Given the description of an element on the screen output the (x, y) to click on. 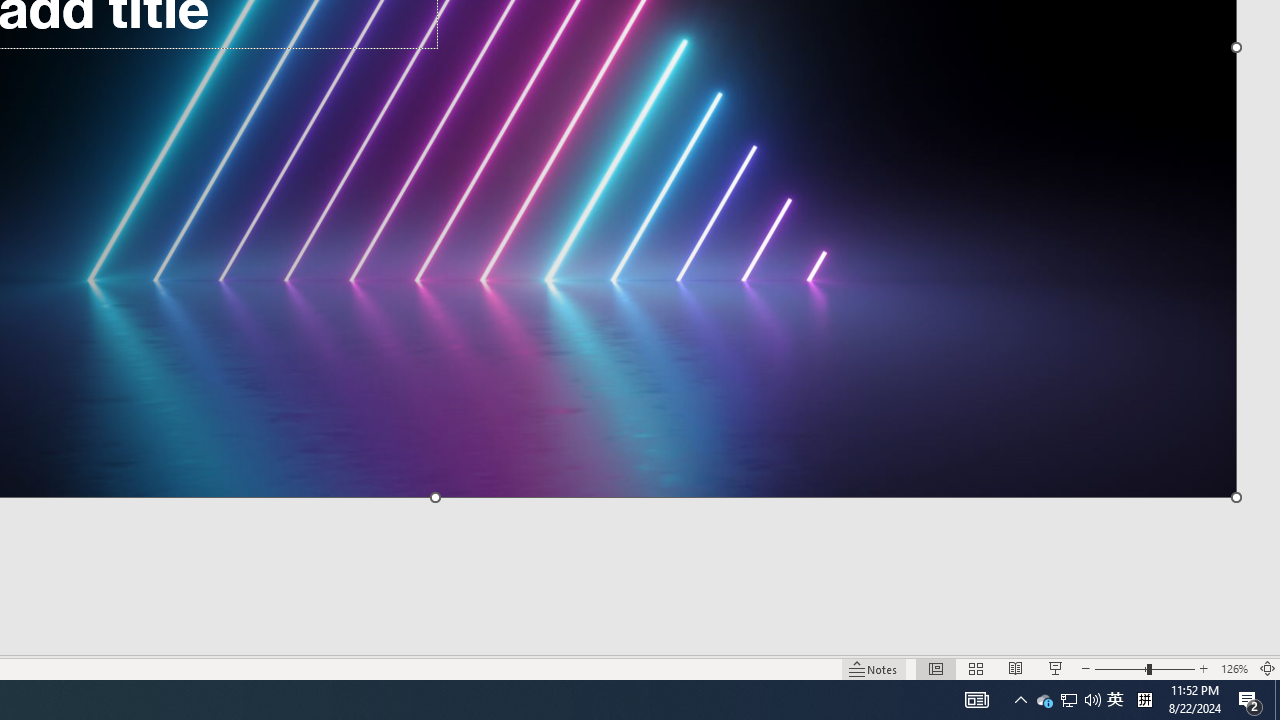
Zoom 126% (1234, 668)
